Given the description of an element on the screen output the (x, y) to click on. 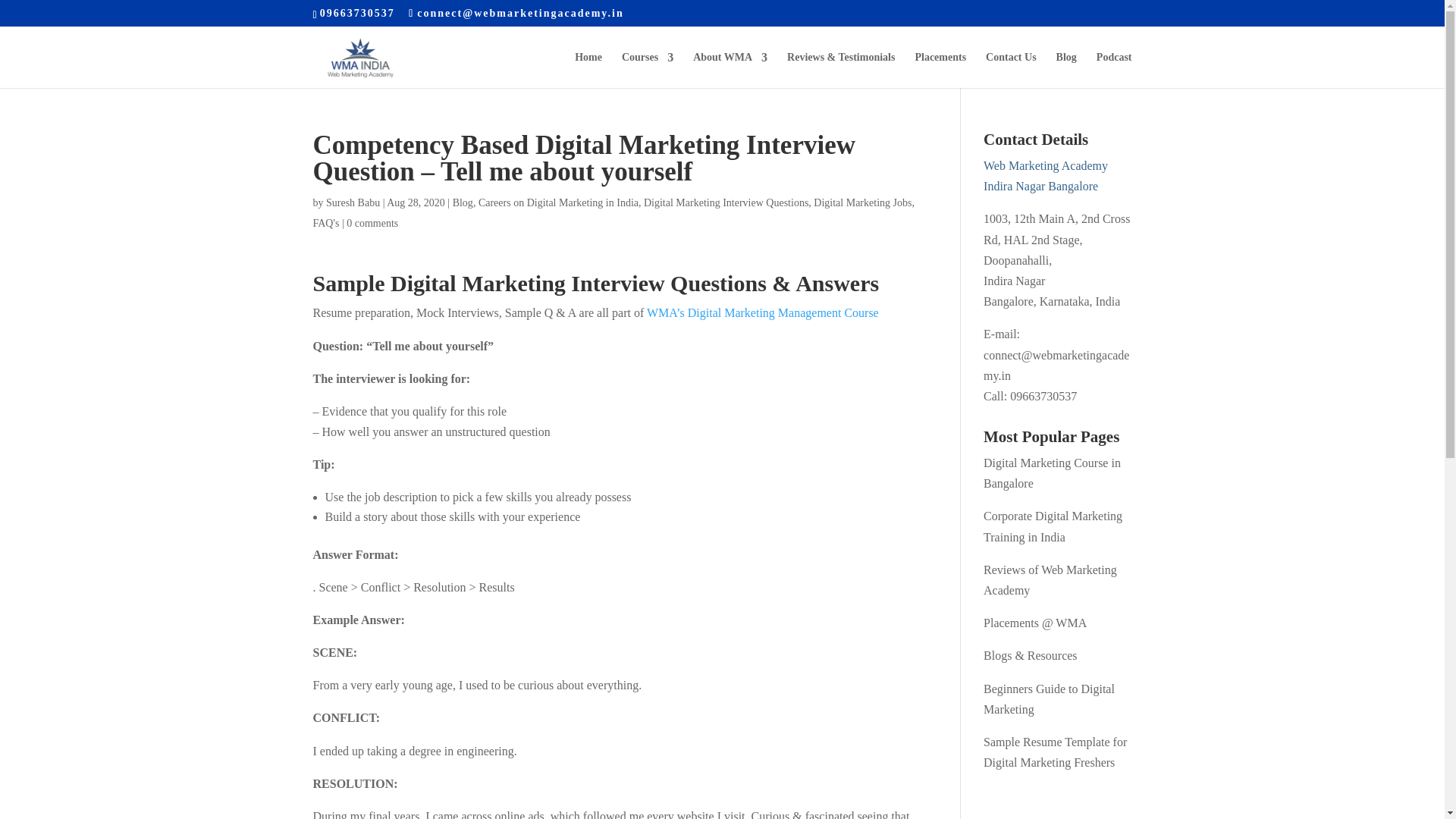
Digital Marketing Course in Bangalore (1052, 472)
Placements (940, 69)
Blog (1067, 69)
Careers on Digital Marketing in India (559, 202)
0 comments (371, 223)
Contact Us (1010, 69)
Podcast (1114, 69)
Corporate Digital Marketing Training in India (1053, 525)
Digital Marketing Jobs (862, 202)
Posts by Suresh Babu (353, 202)
Reviews of Web Marketing Academy (1050, 580)
About WMA (730, 69)
Digital Marketing Interview Questions (725, 202)
Home (588, 69)
FAQ's (326, 223)
